Given the description of an element on the screen output the (x, y) to click on. 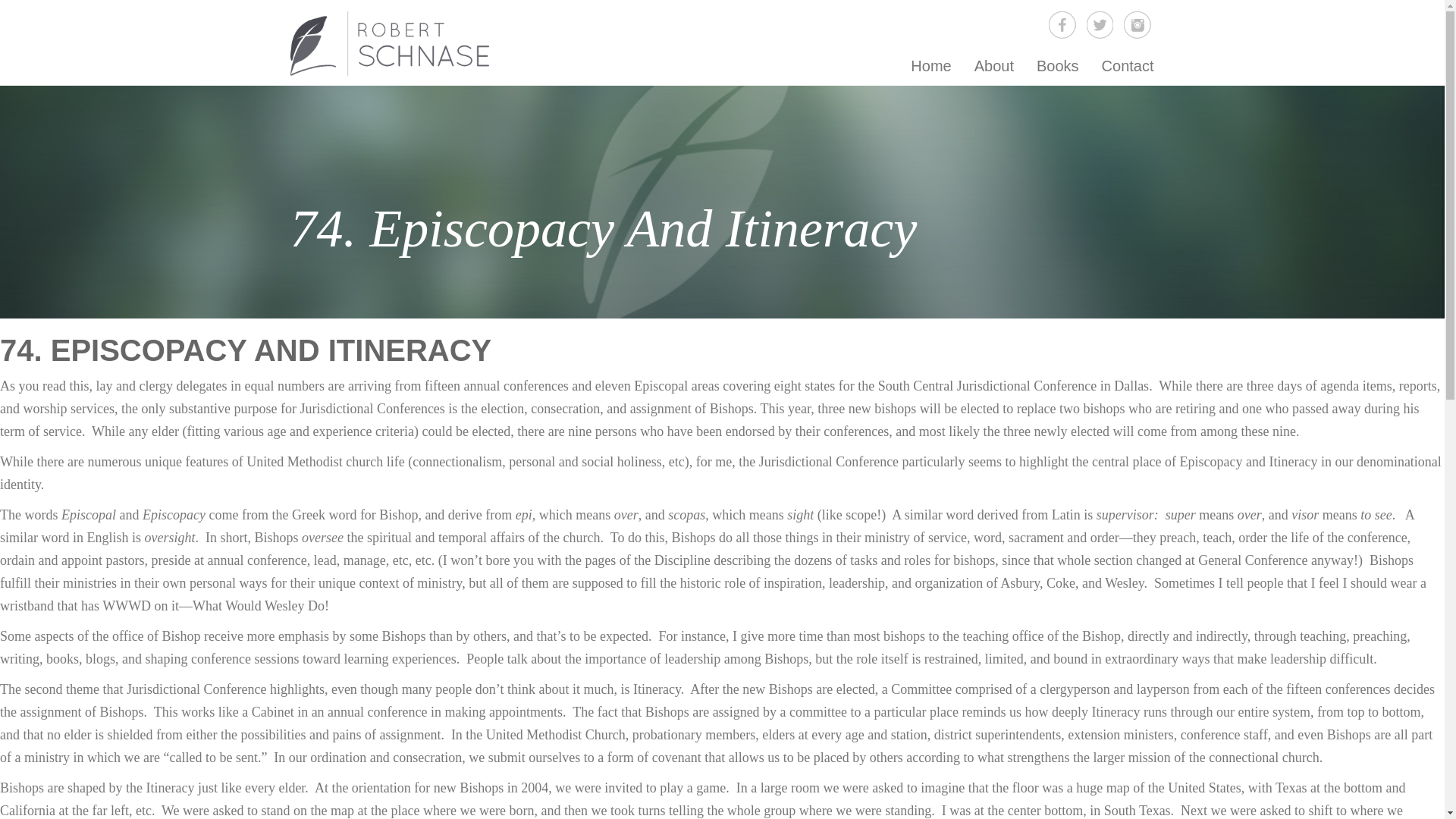
Home (930, 65)
Contact (1128, 65)
About (993, 65)
Contact (1128, 65)
Books (1057, 65)
Home (930, 65)
Books (1057, 65)
About (993, 65)
